Given the description of an element on the screen output the (x, y) to click on. 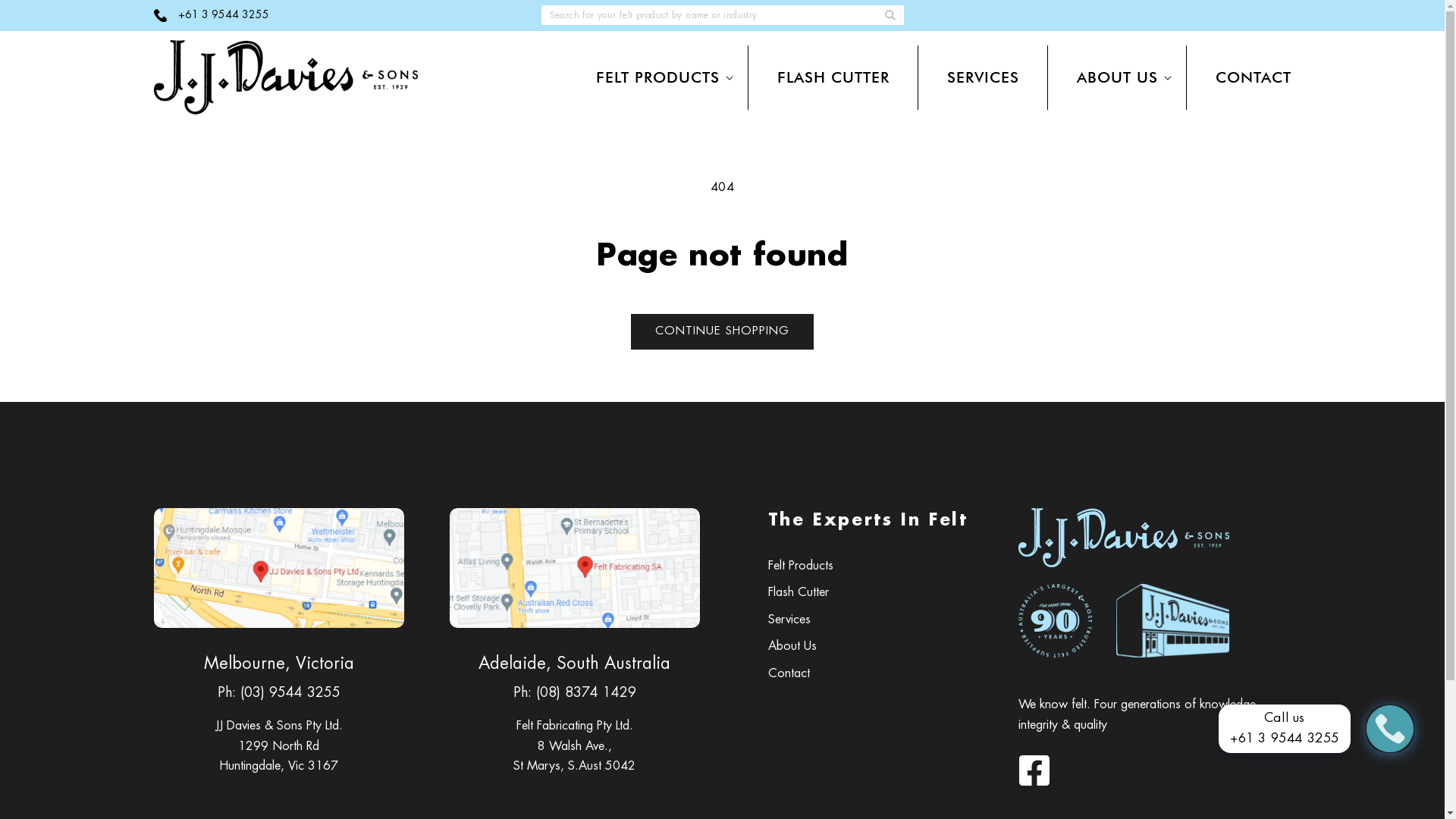
Services Element type: text (788, 619)
CONTINUE SHOPPING Element type: text (721, 331)
FLASH CUTTER Element type: text (832, 77)
Flash Cutter Element type: text (797, 592)
Facebook Element type: text (1033, 769)
Felt Products Element type: text (799, 568)
SERVICES Element type: text (982, 77)
+61 3 9544 3255 Element type: text (210, 15)
About Us Element type: text (791, 646)
Contact Element type: text (788, 673)
CONTACT Element type: text (1252, 77)
